Given the description of an element on the screen output the (x, y) to click on. 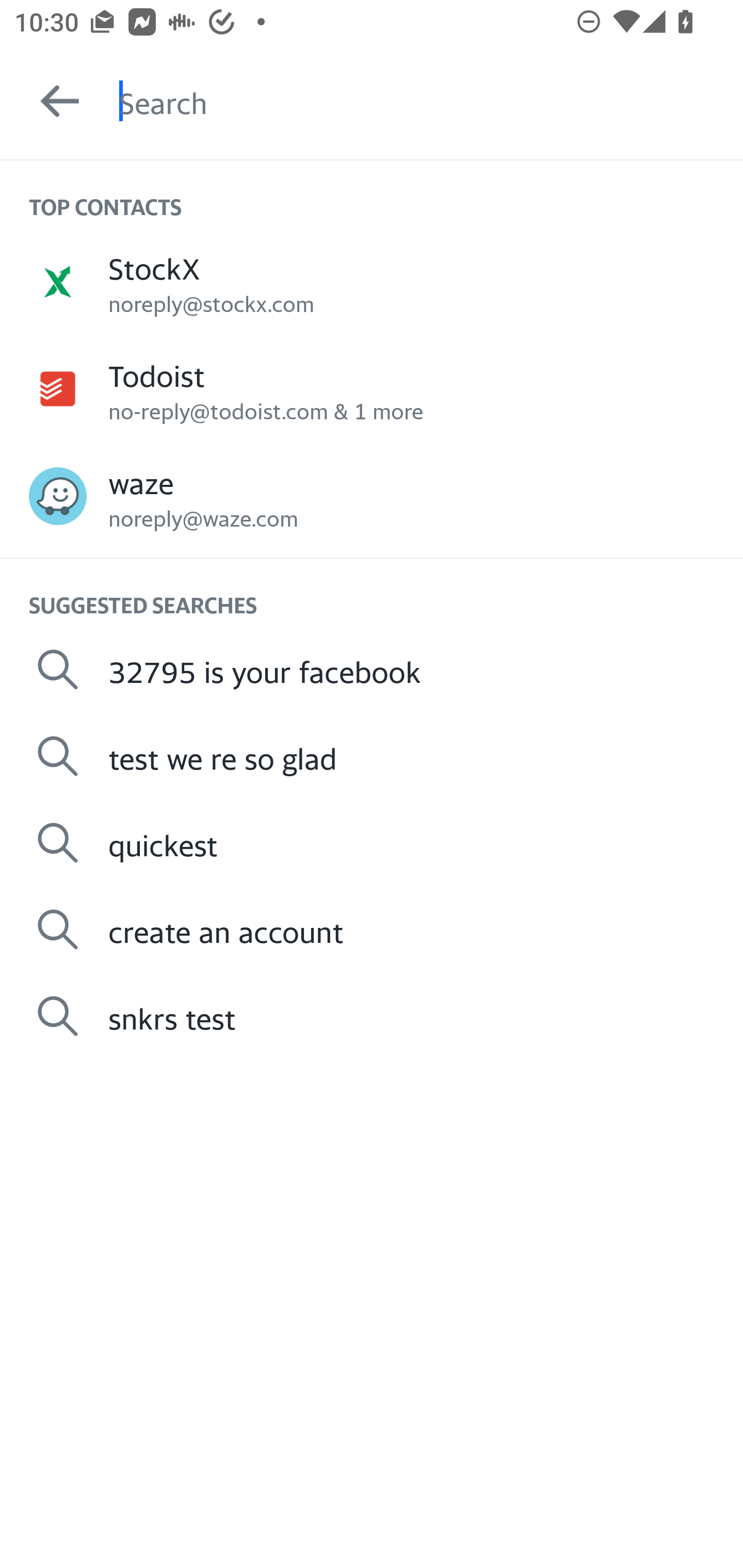
Back (50, 101)
Search (430, 101)
Top contacts StockX noreply@stockx.com (371, 281)
Top contacts Todoist no-reply@todoist.com & 1 more (371, 388)
Top contacts waze noreply@waze.com (371, 496)
Suggested searches 32795 is your facebook (371, 669)
Suggested searches test we re so glad (371, 756)
Suggested searches quickest (371, 842)
Suggested searches create an account (371, 928)
Suggested searches snkrs test (371, 1015)
